Given the description of an element on the screen output the (x, y) to click on. 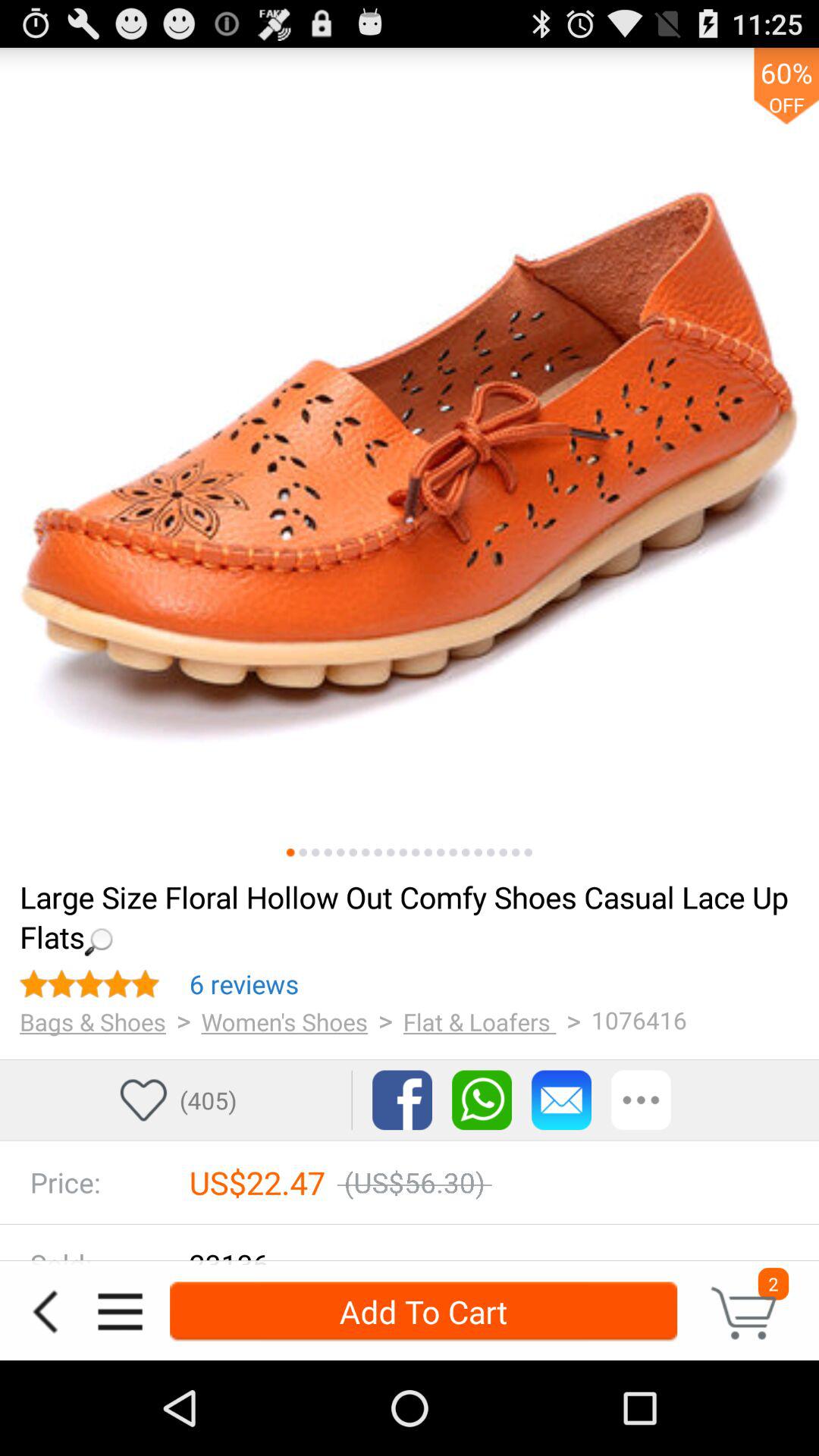
skip to 14th picture (453, 852)
